Given the description of an element on the screen output the (x, y) to click on. 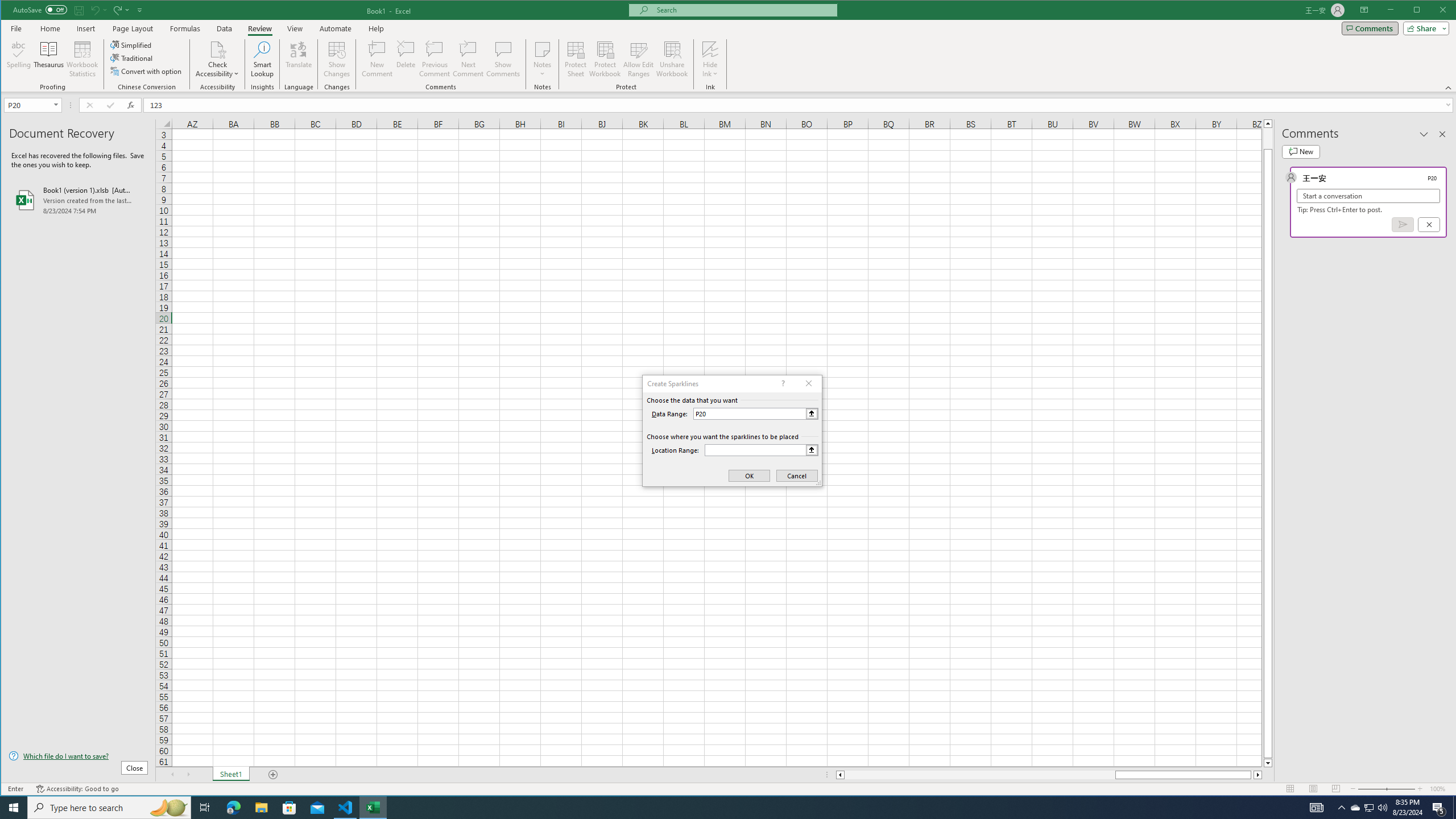
Workbook Statistics (82, 59)
New Comment (377, 59)
Notes (541, 59)
Unshare Workbook (671, 59)
Simplified (132, 44)
